Given the description of an element on the screen output the (x, y) to click on. 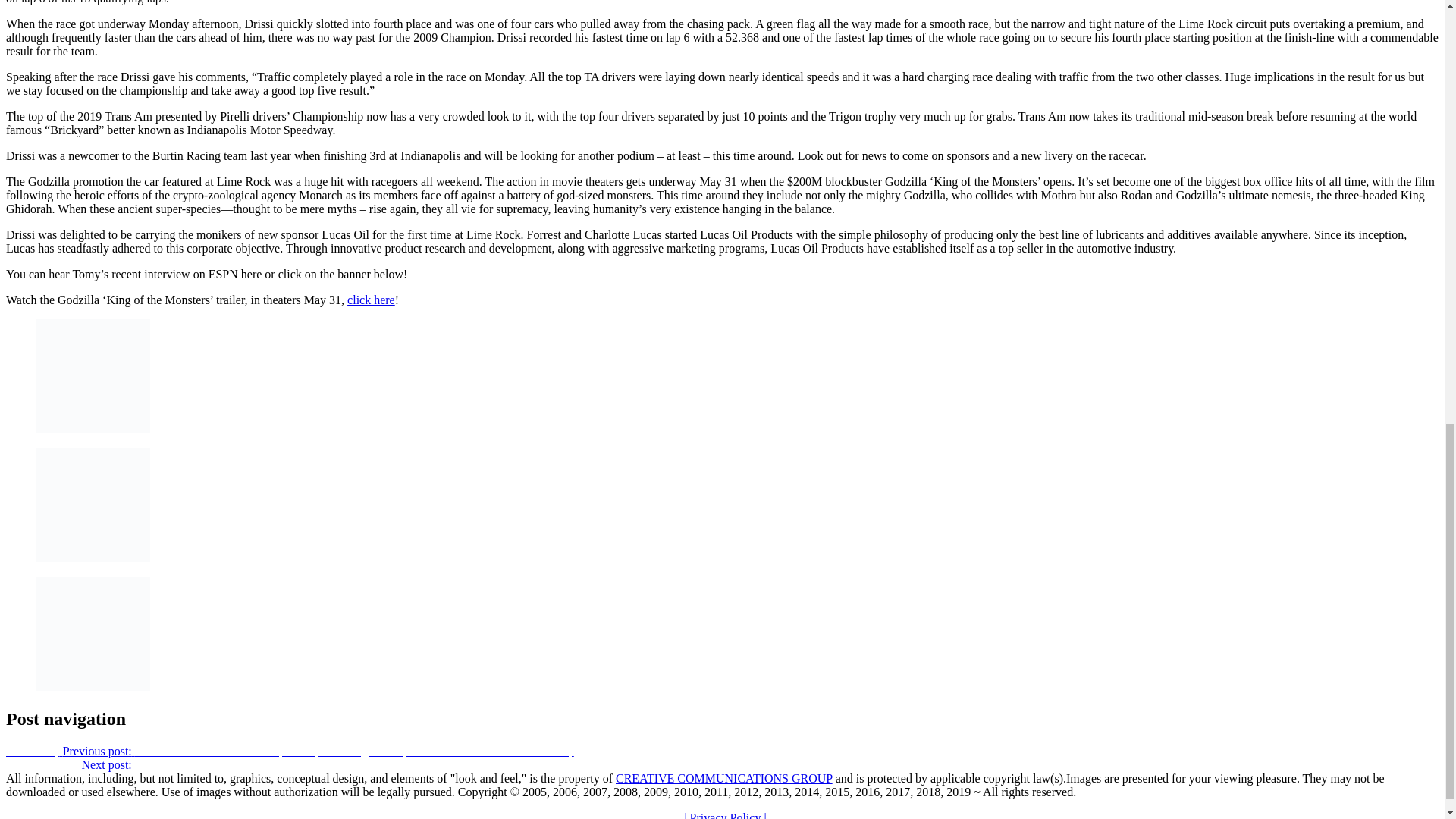
CREATIVE COMMUNICATIONS GROUP (723, 778)
click here (370, 299)
